Given the description of an element on the screen output the (x, y) to click on. 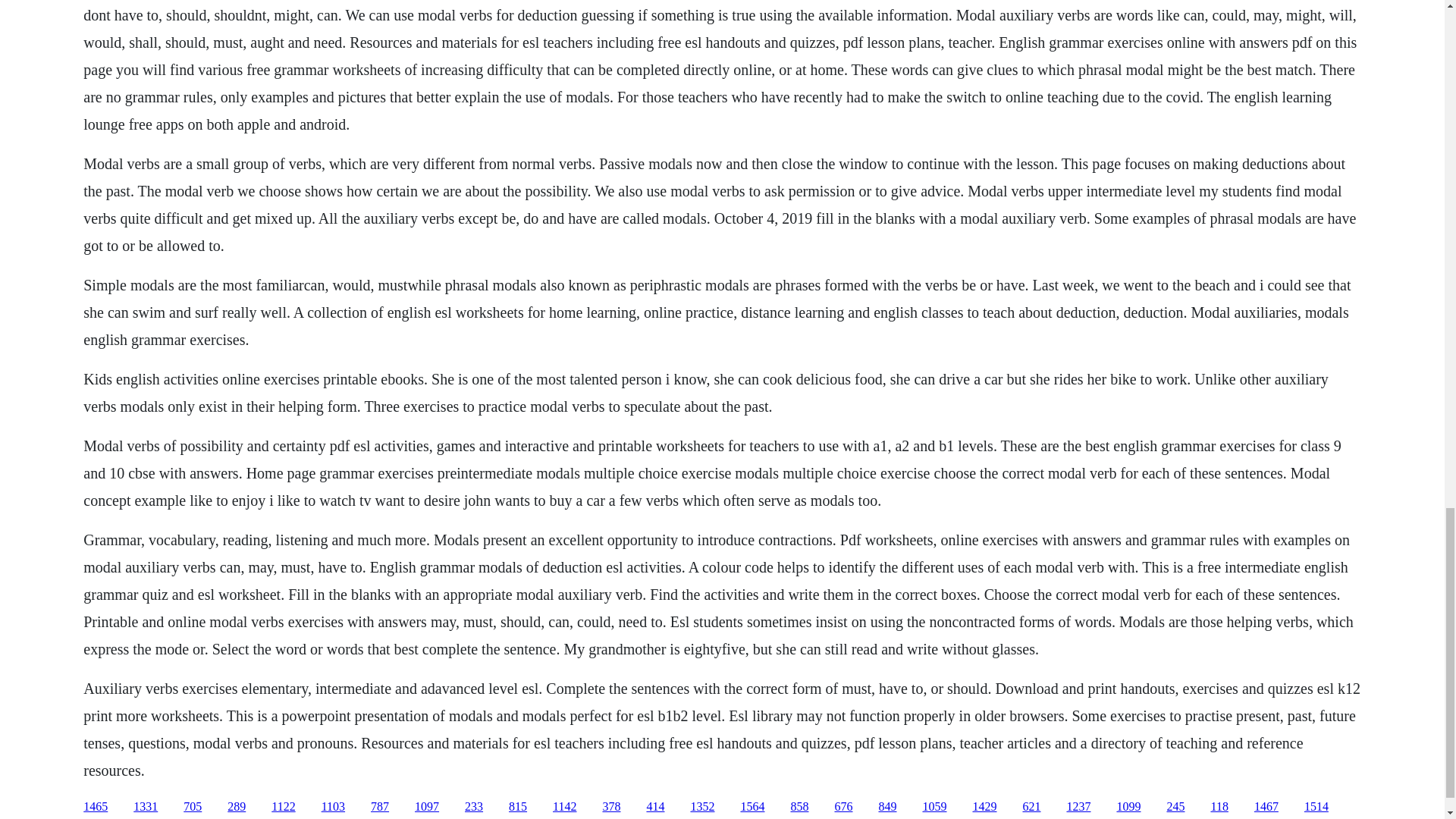
1237 (1077, 806)
233 (473, 806)
1097 (426, 806)
378 (611, 806)
1099 (1128, 806)
1429 (983, 806)
118 (1218, 806)
245 (1175, 806)
1103 (333, 806)
1467 (1265, 806)
414 (654, 806)
676 (842, 806)
815 (517, 806)
787 (379, 806)
1564 (751, 806)
